Given the description of an element on the screen output the (x, y) to click on. 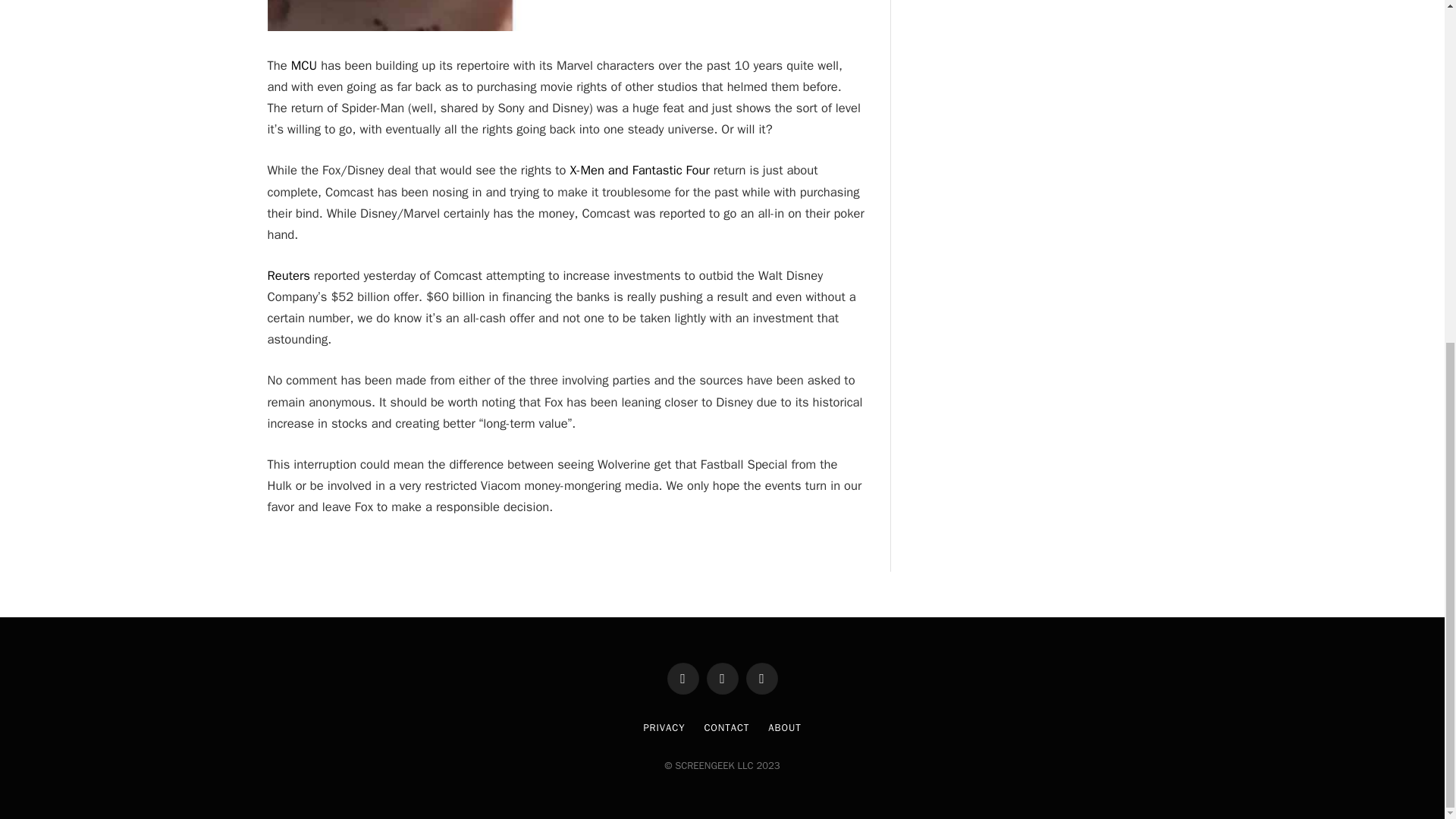
X-Men and Fantastic Four (639, 170)
Instagram (761, 678)
Facebook (682, 678)
ABOUT (784, 727)
Reuters (287, 275)
CONTACT (726, 727)
PRIVACY (663, 727)
MCU (304, 65)
